Given the description of an element on the screen output the (x, y) to click on. 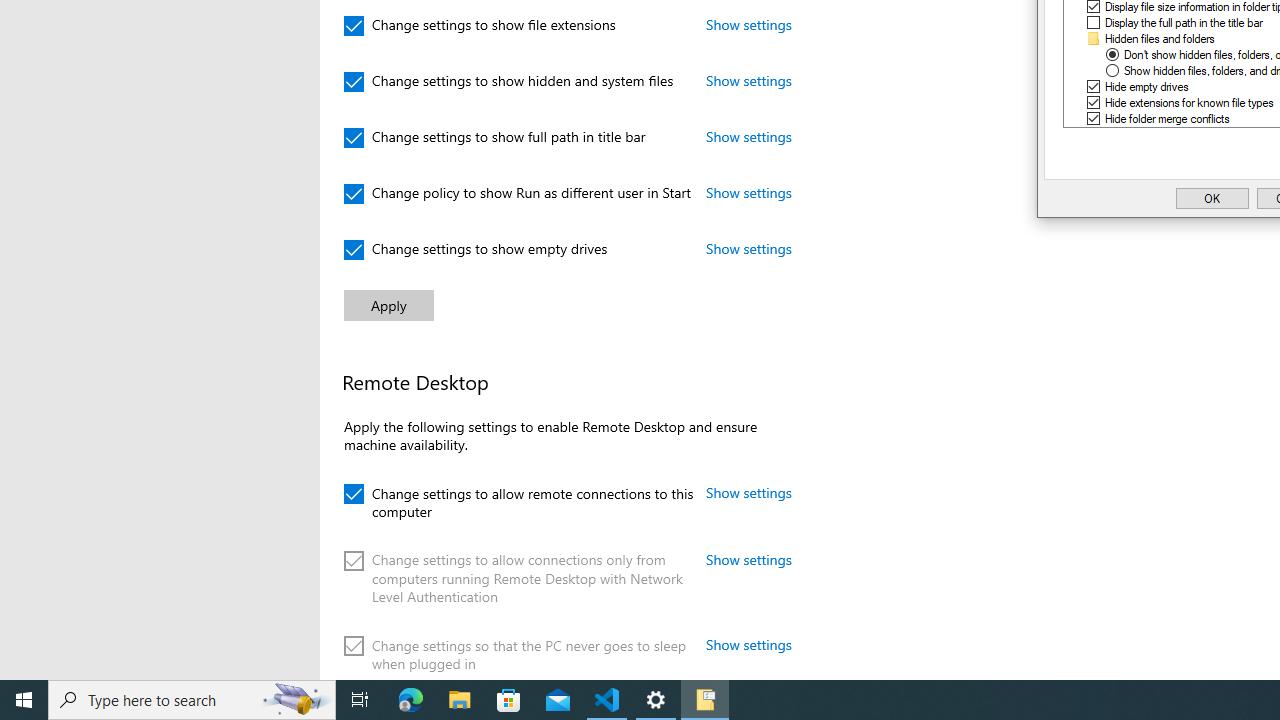
Visual Studio Code - 1 running window (607, 699)
Microsoft Edge (411, 699)
Type here to search (191, 699)
OK (1212, 198)
Hidden files and folders (1160, 38)
Start (24, 699)
Display the full path in the title bar (1183, 22)
File Explorer (460, 699)
Task View (359, 699)
Search highlights icon opens search home window (295, 699)
File Explorer Options - 1 running window (704, 699)
Hide empty drives (1146, 87)
Hide folder merge conflicts (1167, 117)
Hide extensions for known file types (1189, 102)
